Given the description of an element on the screen output the (x, y) to click on. 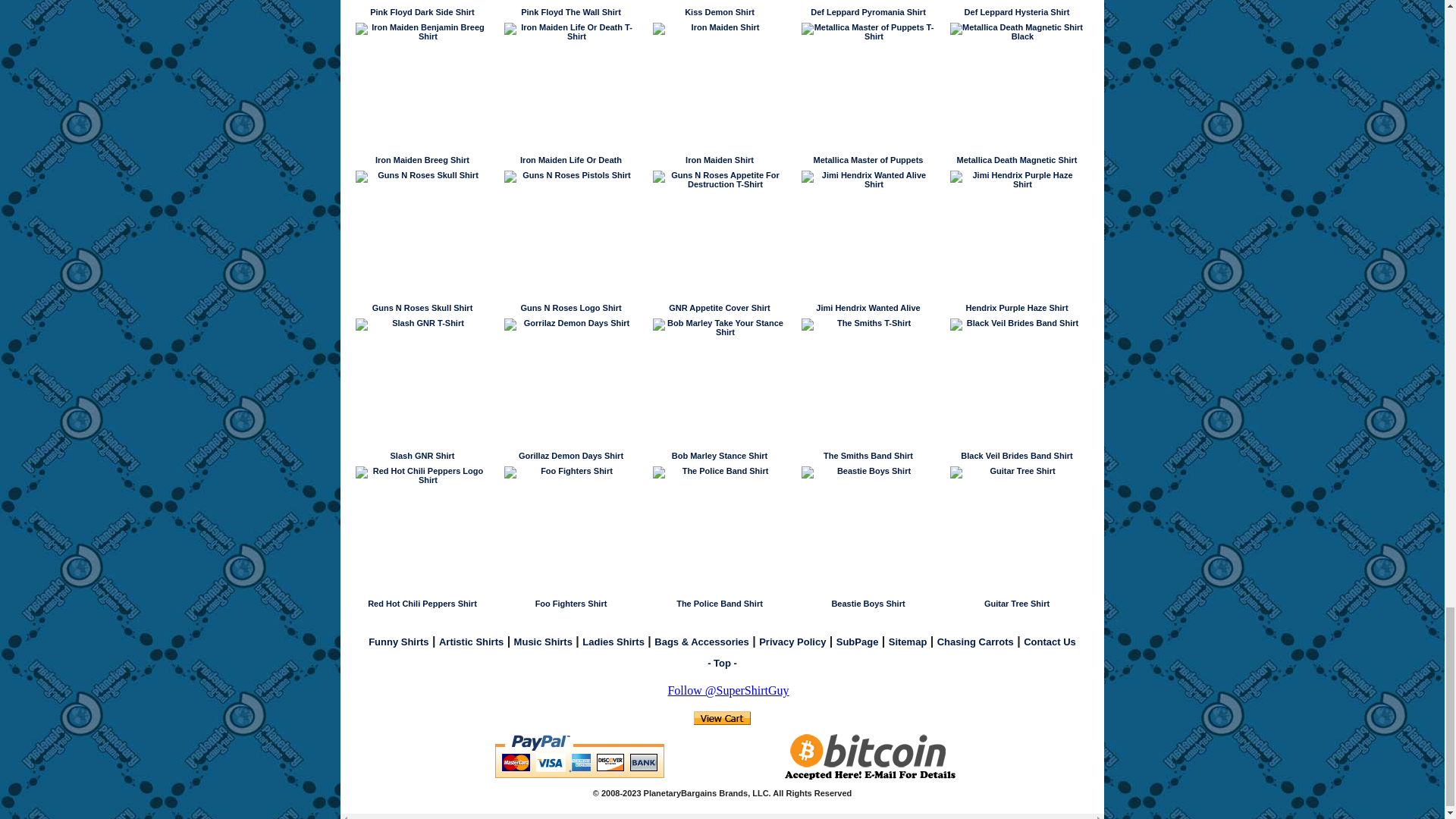
Sitemap (907, 641)
Ladies T-Shirts (613, 641)
Not Working? Try Reloading (722, 717)
SubPage (857, 641)
Artistic Shirts (471, 641)
Music Shirts (542, 641)
- Top - (721, 663)
Ladies Bags (701, 641)
Contact Us (1049, 641)
Funny Shirts (398, 641)
Back To Top (721, 663)
Privacy Policy (791, 641)
Ladies Shirts (613, 641)
Chasing Carrots (975, 641)
